Given the description of an element on the screen output the (x, y) to click on. 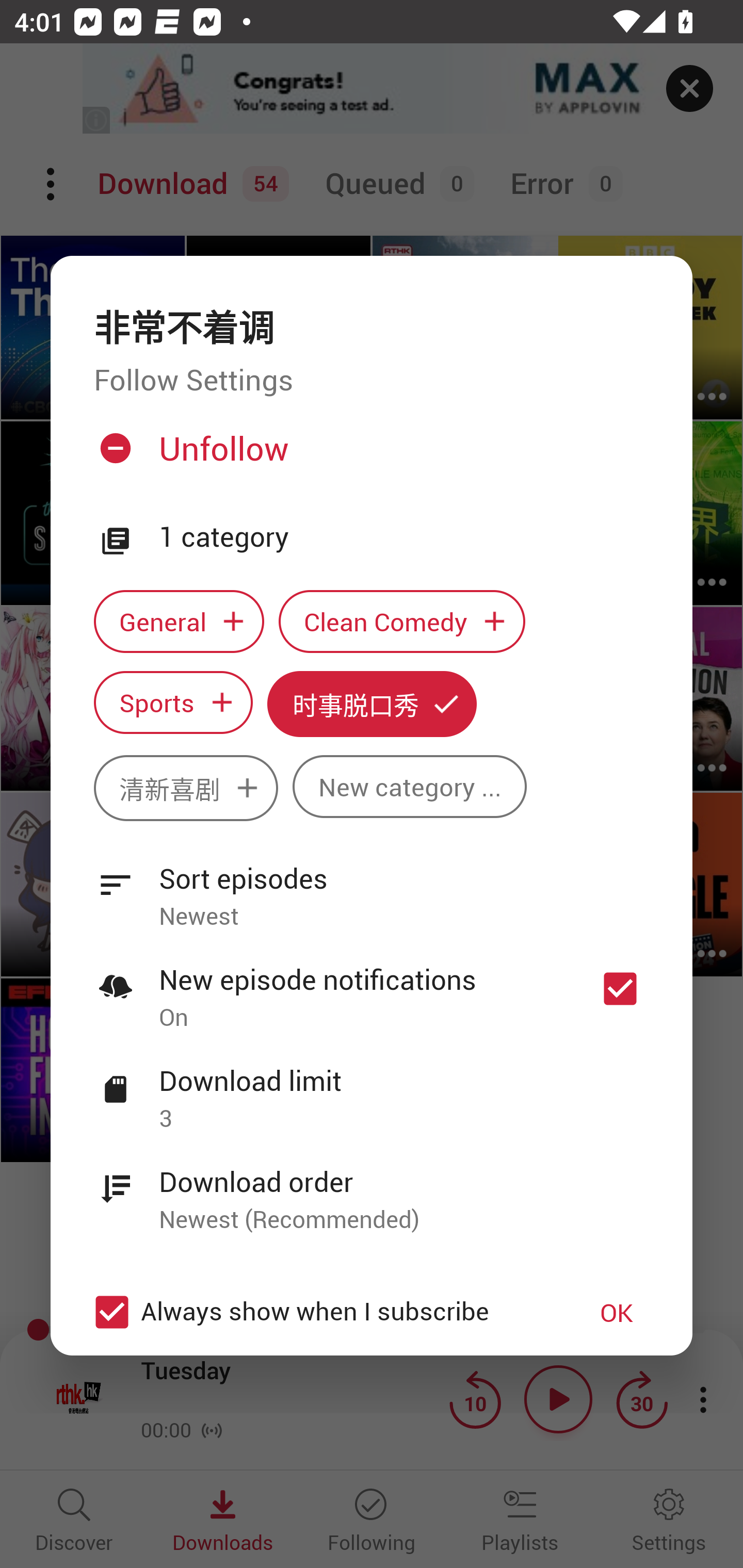
Unfollow (369, 456)
1 category (404, 537)
General (178, 620)
Clean Comedy (401, 620)
Sports (172, 702)
时事脱口秀 (372, 703)
清新喜剧 (185, 788)
New category ... (409, 786)
Sort episodes Newest (371, 885)
New episode notifications (620, 988)
Download limit 3 (371, 1088)
Download order Newest (Recommended) (371, 1189)
OK (616, 1311)
Always show when I subscribe (320, 1311)
